Given the description of an element on the screen output the (x, y) to click on. 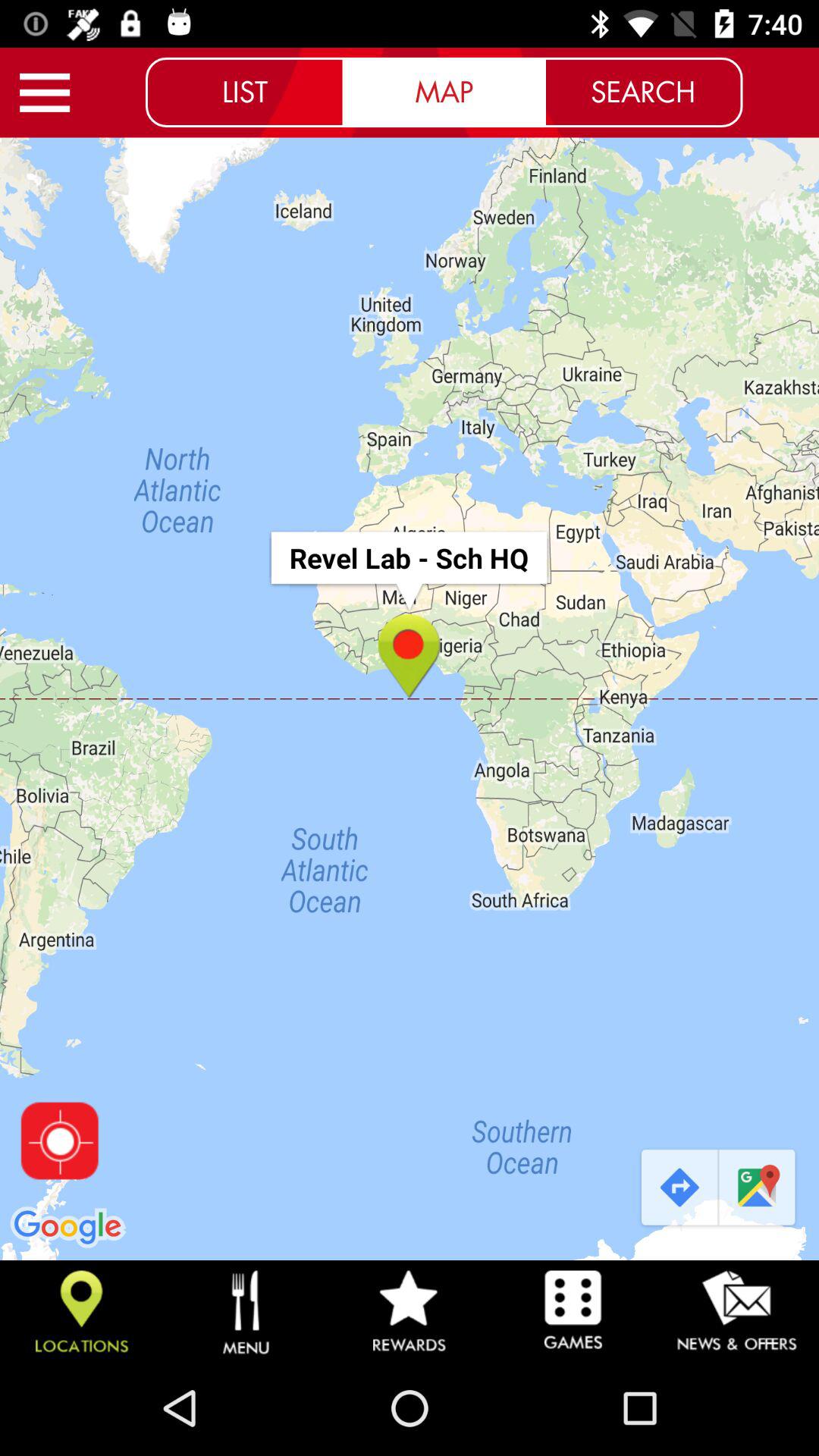
jump until the list icon (244, 92)
